Given the description of an element on the screen output the (x, y) to click on. 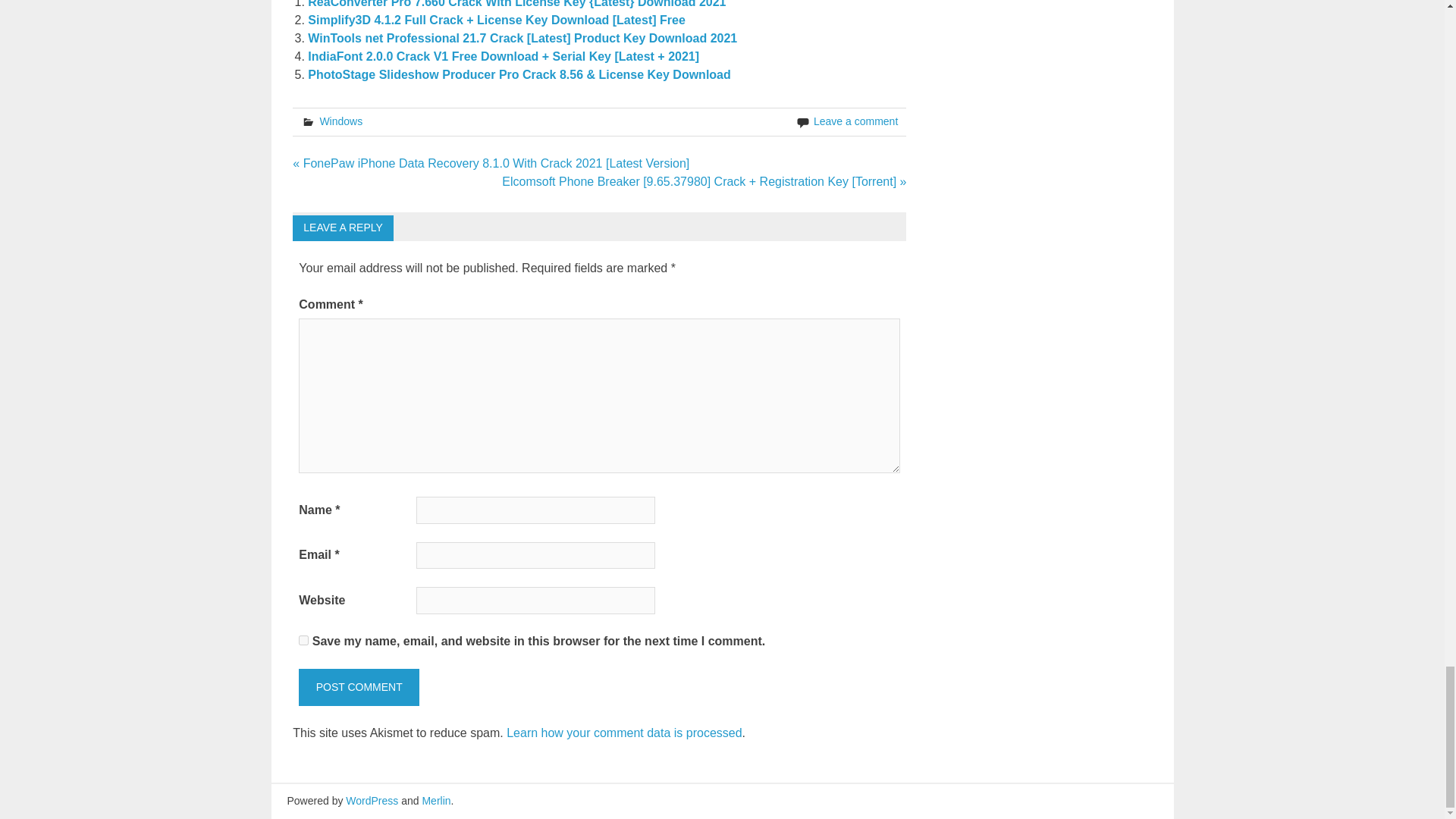
Leave a comment (855, 121)
Post Comment (358, 687)
Merlin WordPress Theme (435, 800)
Post Comment (358, 687)
Merlin (435, 800)
WordPress (371, 800)
WordPress (371, 800)
Windows (340, 121)
yes (303, 640)
Learn how your comment data is processed (623, 732)
